Given the description of an element on the screen output the (x, y) to click on. 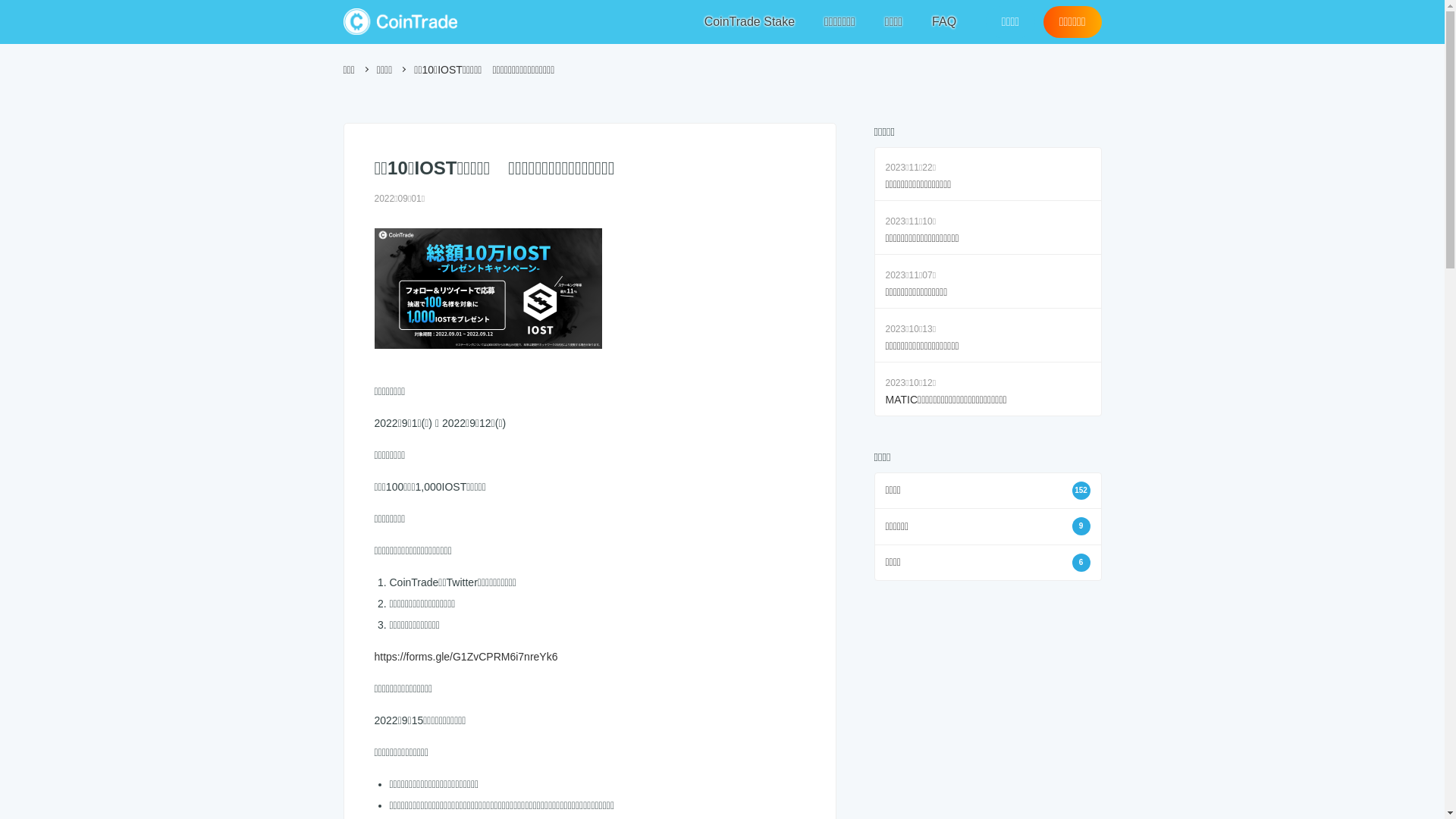
CoinTrade Element type: text (399, 21)
https://forms.gle/G1ZvCPRM6i7nreYk6 Element type: text (466, 656)
FAQ Element type: text (943, 21)
CoinTrade Stake Element type: text (749, 21)
